Given the description of an element on the screen output the (x, y) to click on. 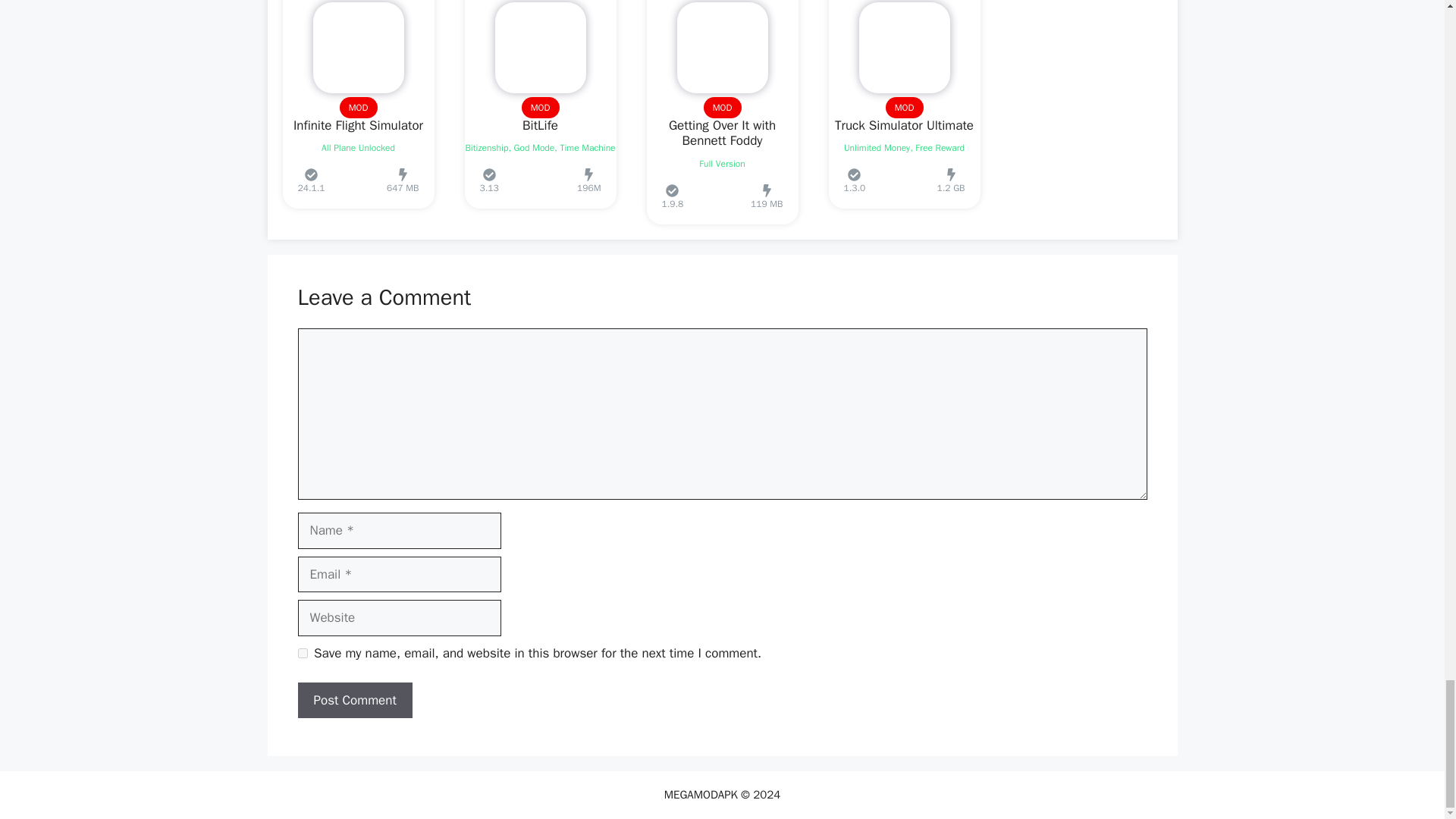
Infinite Flight Simulator (358, 125)
Post Comment (354, 700)
BitLife (539, 125)
Post Comment (354, 700)
Getting Over It with Bennett Foddy (722, 132)
yes (302, 653)
Truck Simulator Ultimate (904, 125)
